Given the description of an element on the screen output the (x, y) to click on. 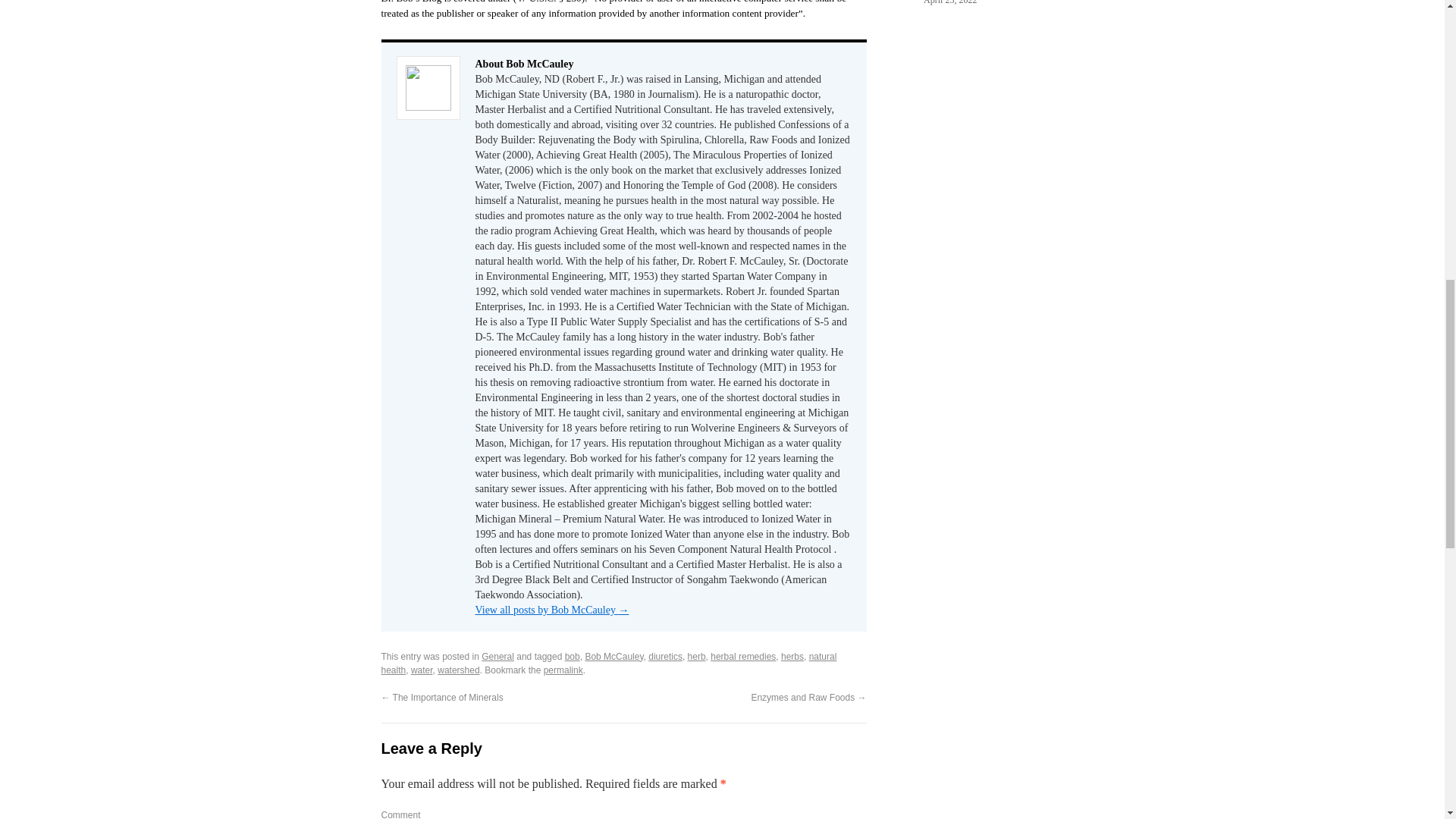
diuretics (664, 656)
herbal remedies (743, 656)
General (497, 656)
Bob McCauley (614, 656)
herbs (791, 656)
natural health (607, 663)
permalink (563, 670)
Permalink to Herbal Diuretics (563, 670)
watershed (458, 670)
water (421, 670)
bob (571, 656)
herb (696, 656)
